Given the description of an element on the screen output the (x, y) to click on. 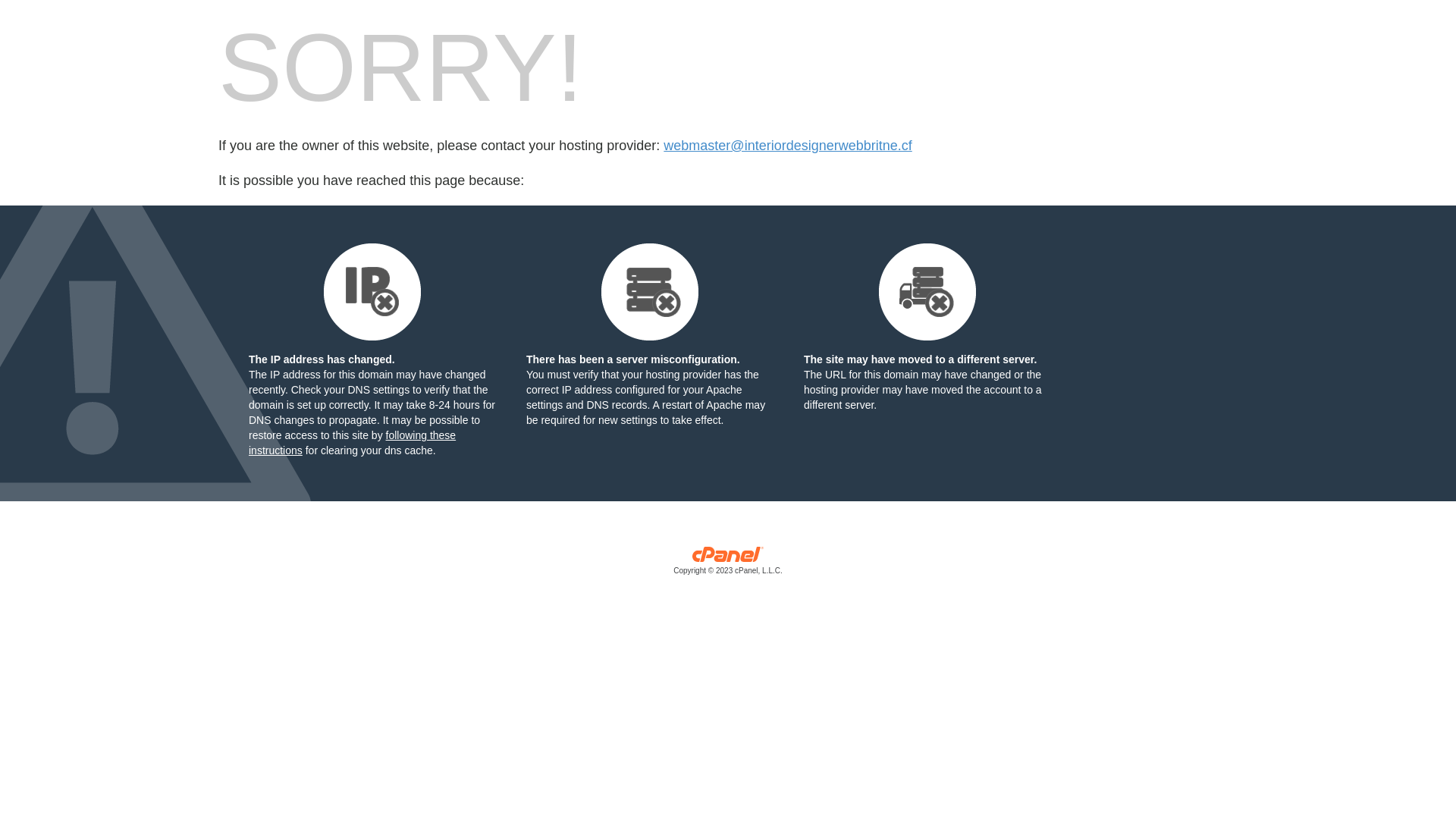
webmaster@interiordesignerwebbritne.cf Element type: text (787, 145)
following these instructions Element type: text (351, 442)
